Given the description of an element on the screen output the (x, y) to click on. 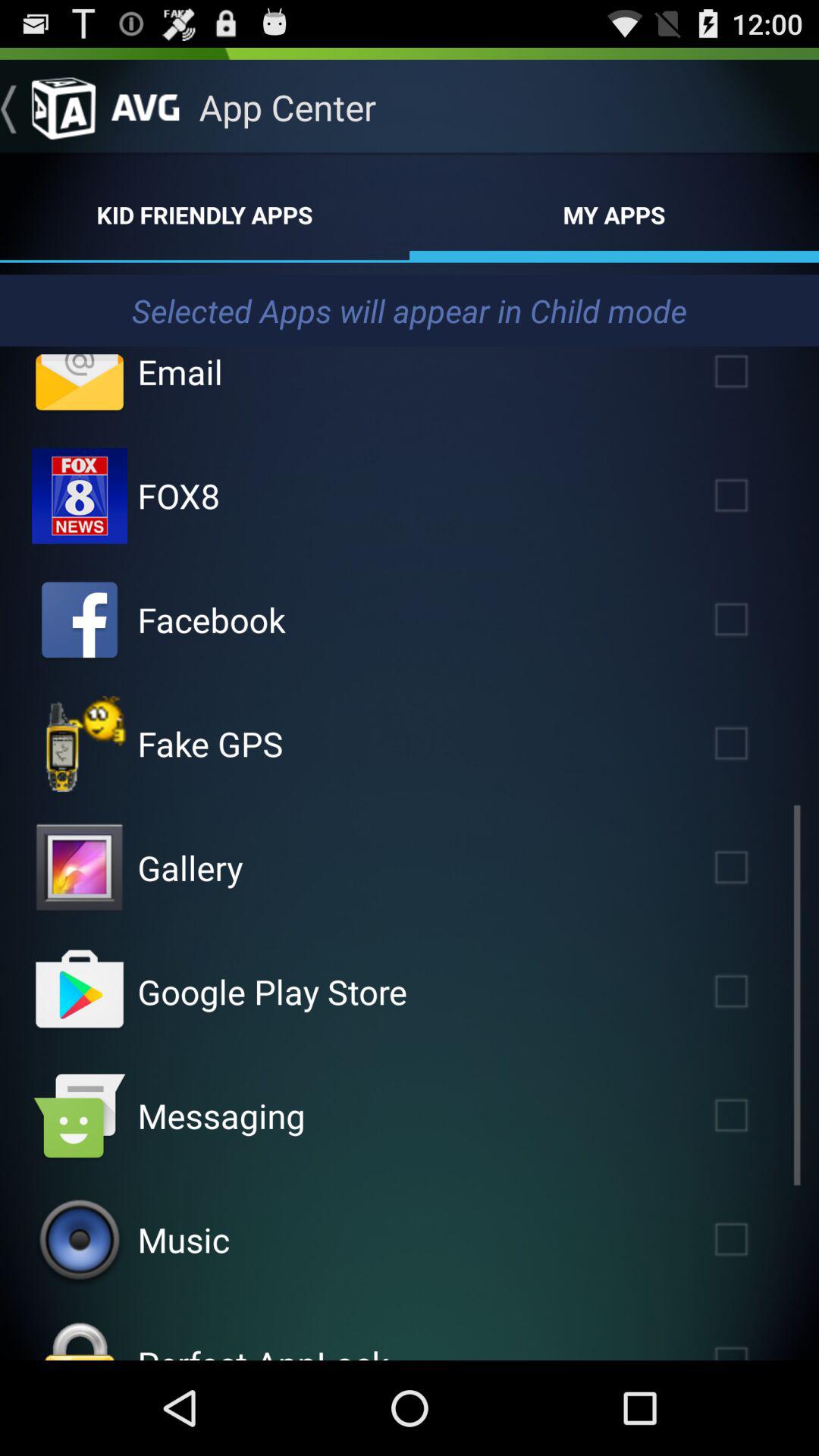
select fox8 (753, 495)
